Given the description of an element on the screen output the (x, y) to click on. 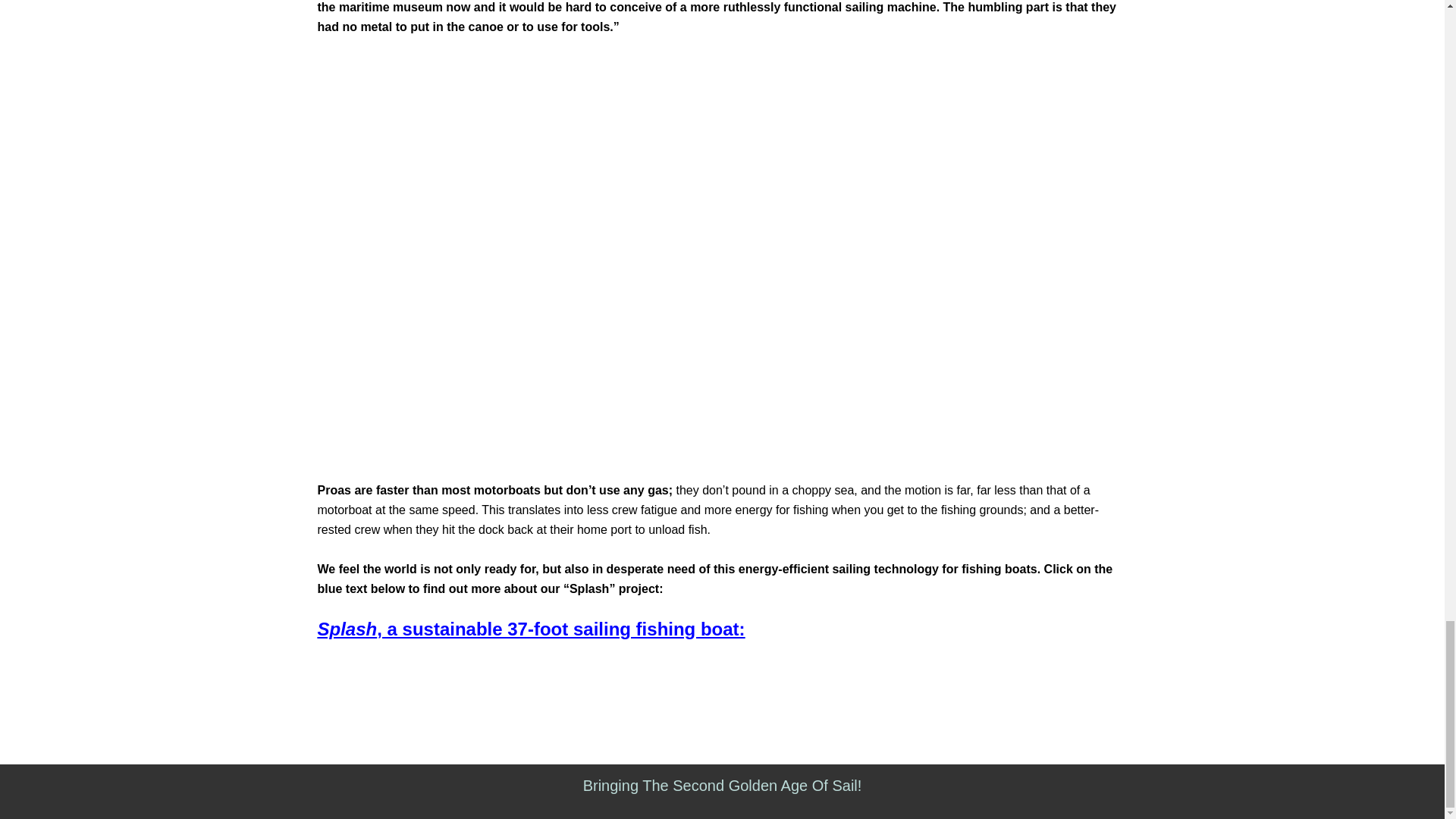
Your Friends At New Age Of Sail (722, 785)
